Given the description of an element on the screen output the (x, y) to click on. 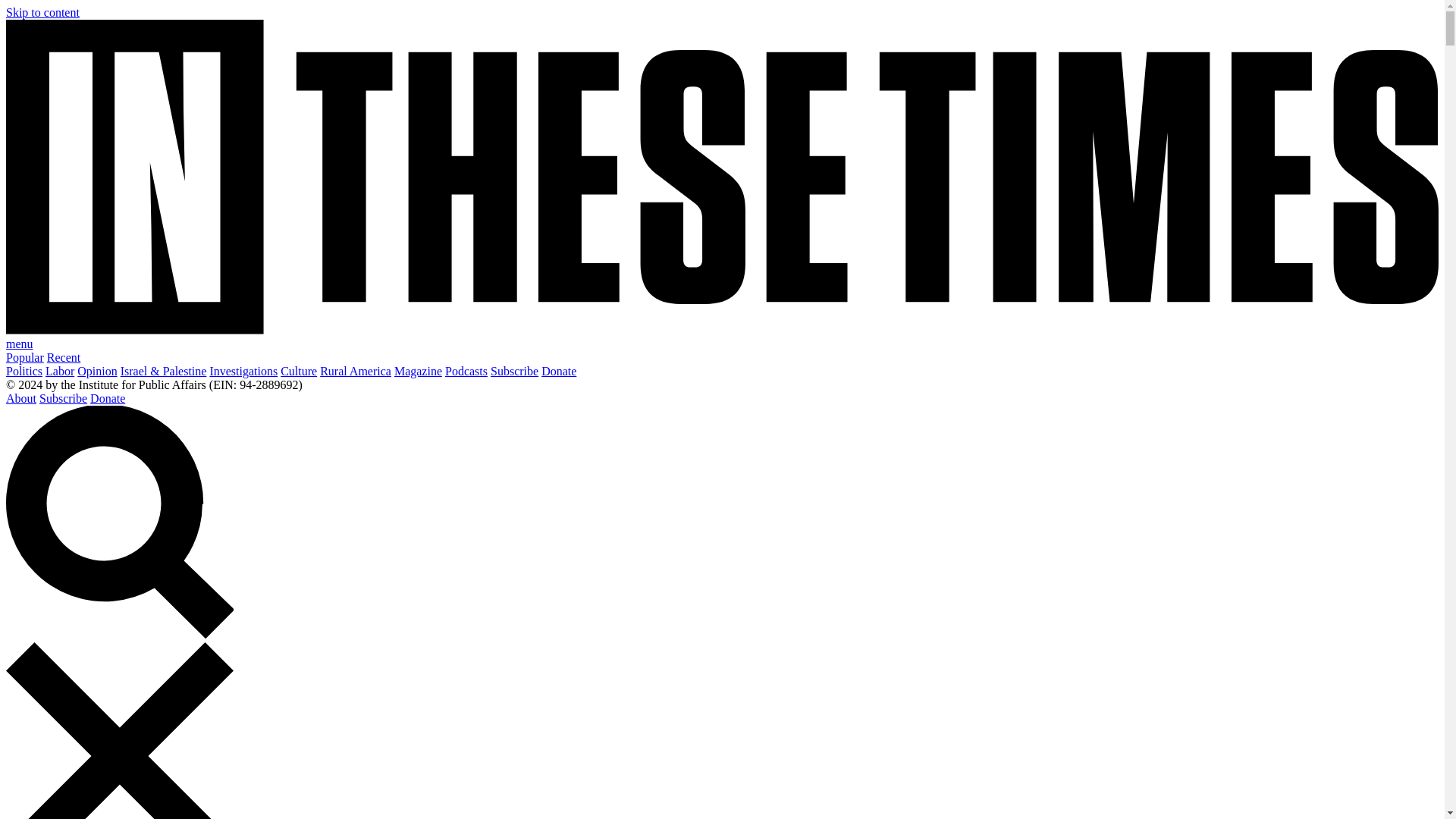
Donate (558, 370)
search (118, 634)
Skip to content (42, 11)
Podcasts (466, 370)
Recent (63, 357)
Culture (299, 370)
Investigations (243, 370)
Opinion (96, 370)
Rural America (355, 370)
Subscribe (514, 370)
Subscribe (63, 398)
Politics (23, 370)
Popular (24, 357)
About (20, 398)
close (118, 730)
